Given the description of an element on the screen output the (x, y) to click on. 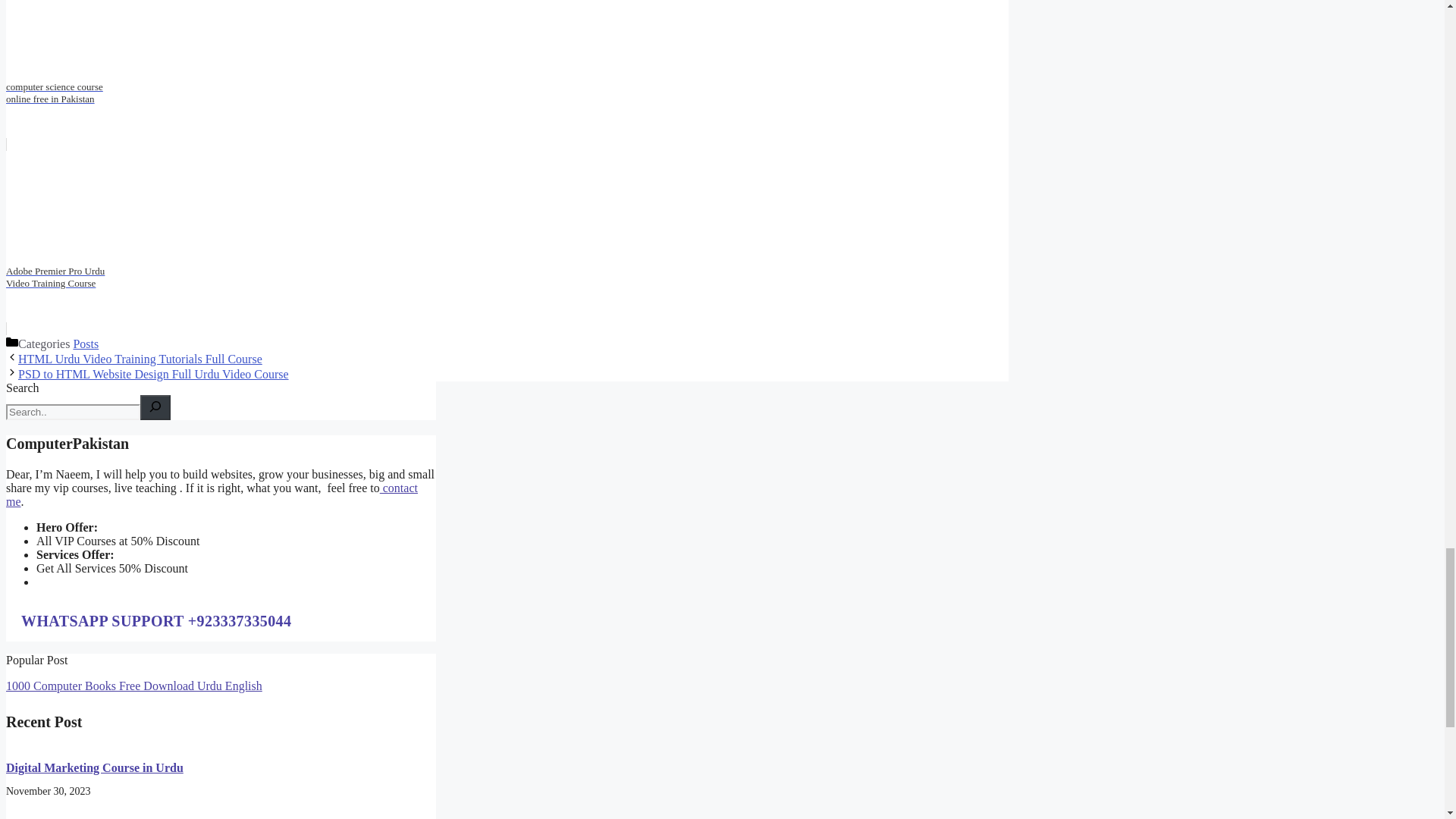
Digital Marketing Course in Urdu (94, 767)
PSD to HTML Website Design Full Urdu Video Course (152, 373)
contact me (211, 494)
HTML Urdu Video Training Tutorials Full Course (139, 358)
Posts (85, 343)
1000 Computer Books Free Download Urdu English (133, 685)
